Given the description of an element on the screen output the (x, y) to click on. 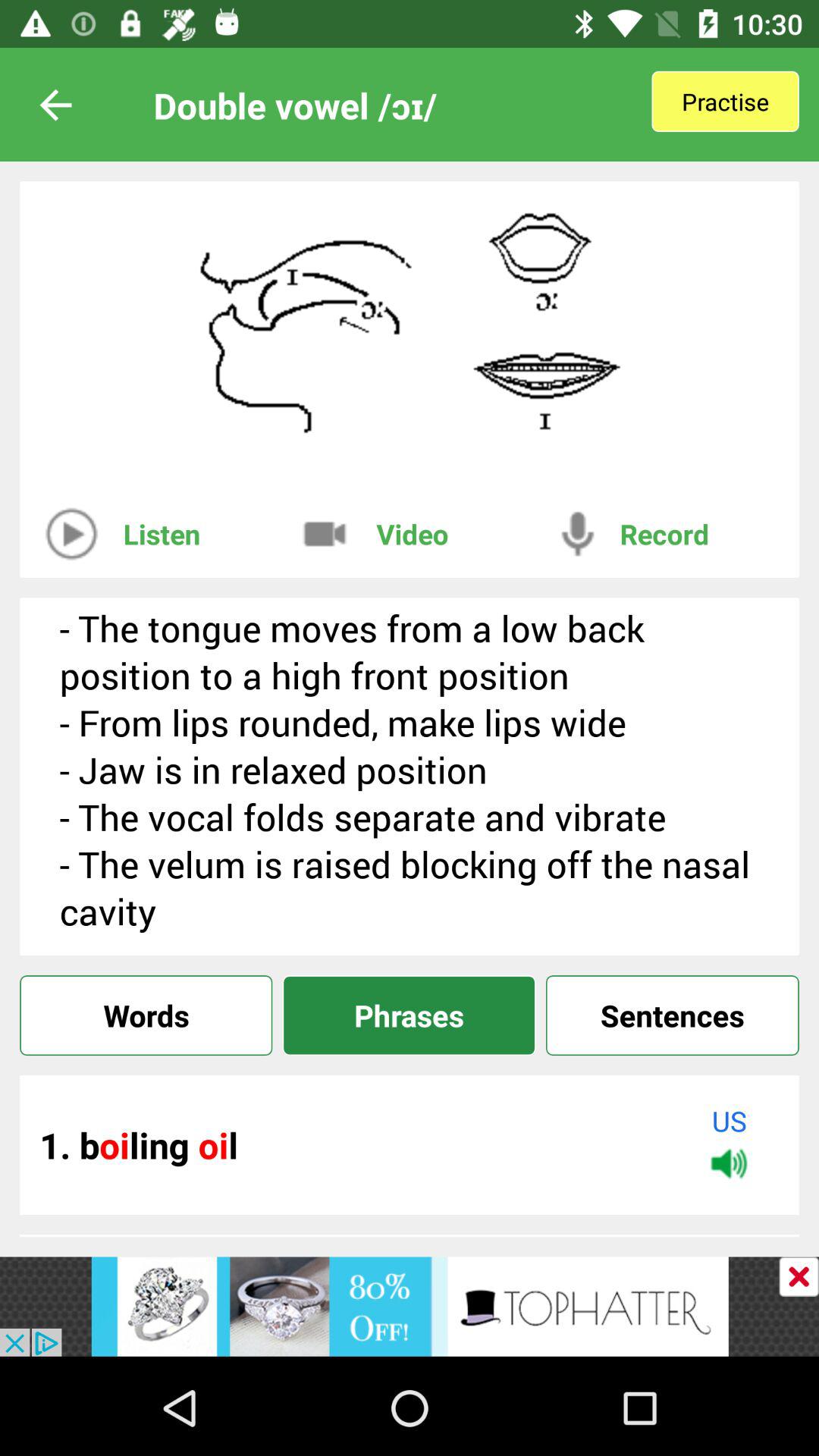
close advertisement (799, 1276)
